Given the description of an element on the screen output the (x, y) to click on. 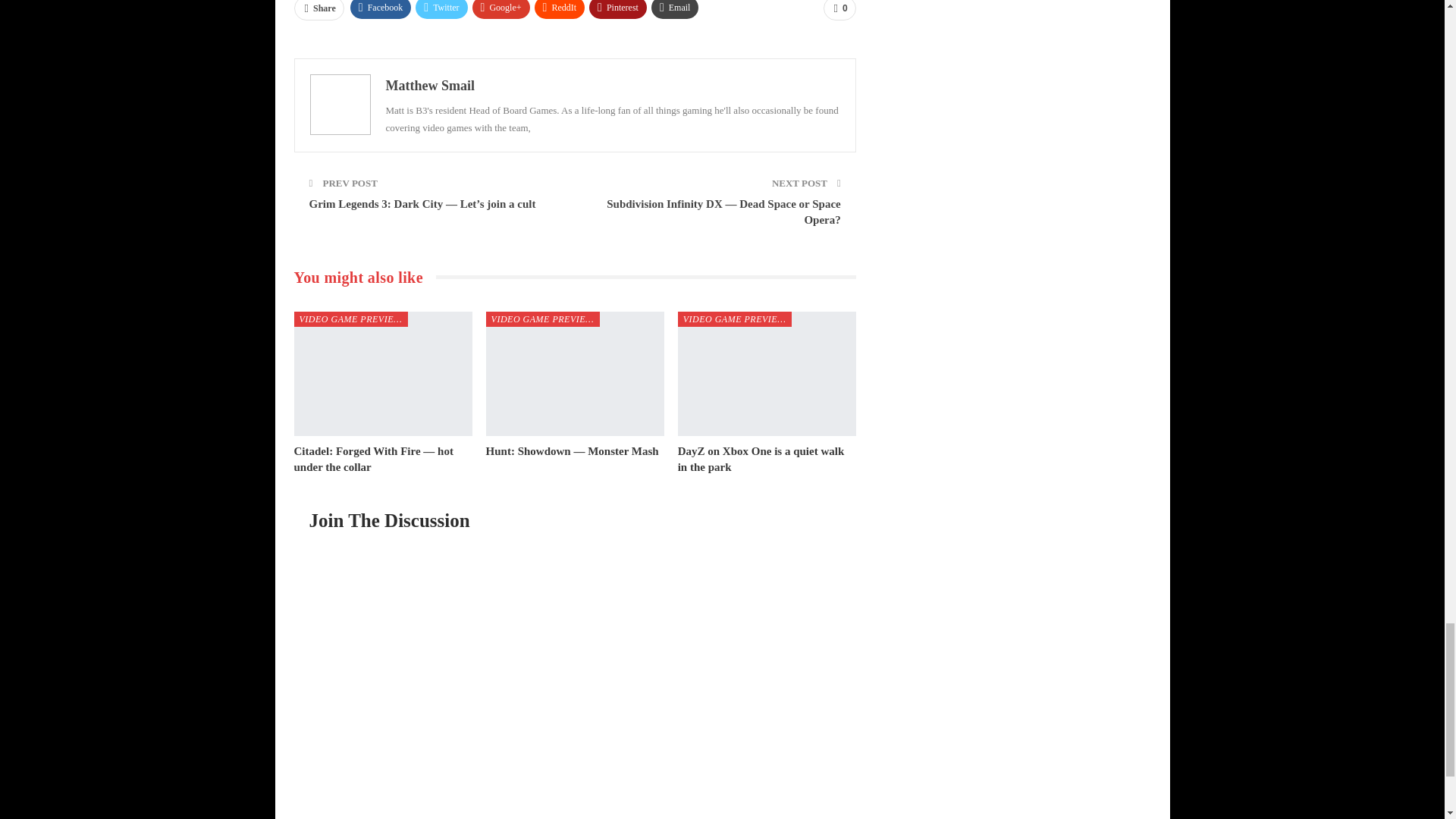
Facebook (381, 9)
0 (840, 10)
Twitter (440, 9)
